Given the description of an element on the screen output the (x, y) to click on. 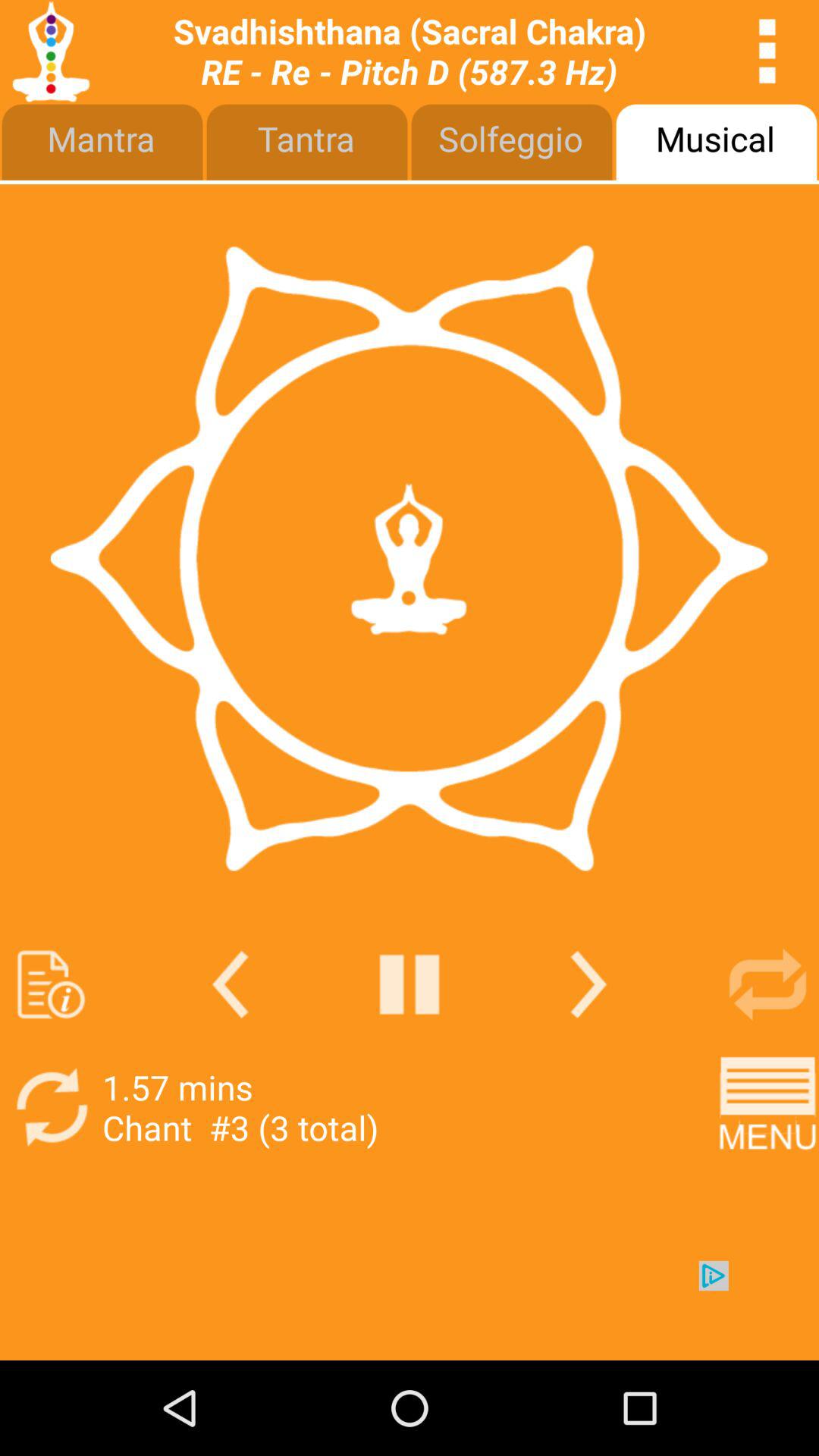
for rotational option (767, 984)
